Given the description of an element on the screen output the (x, y) to click on. 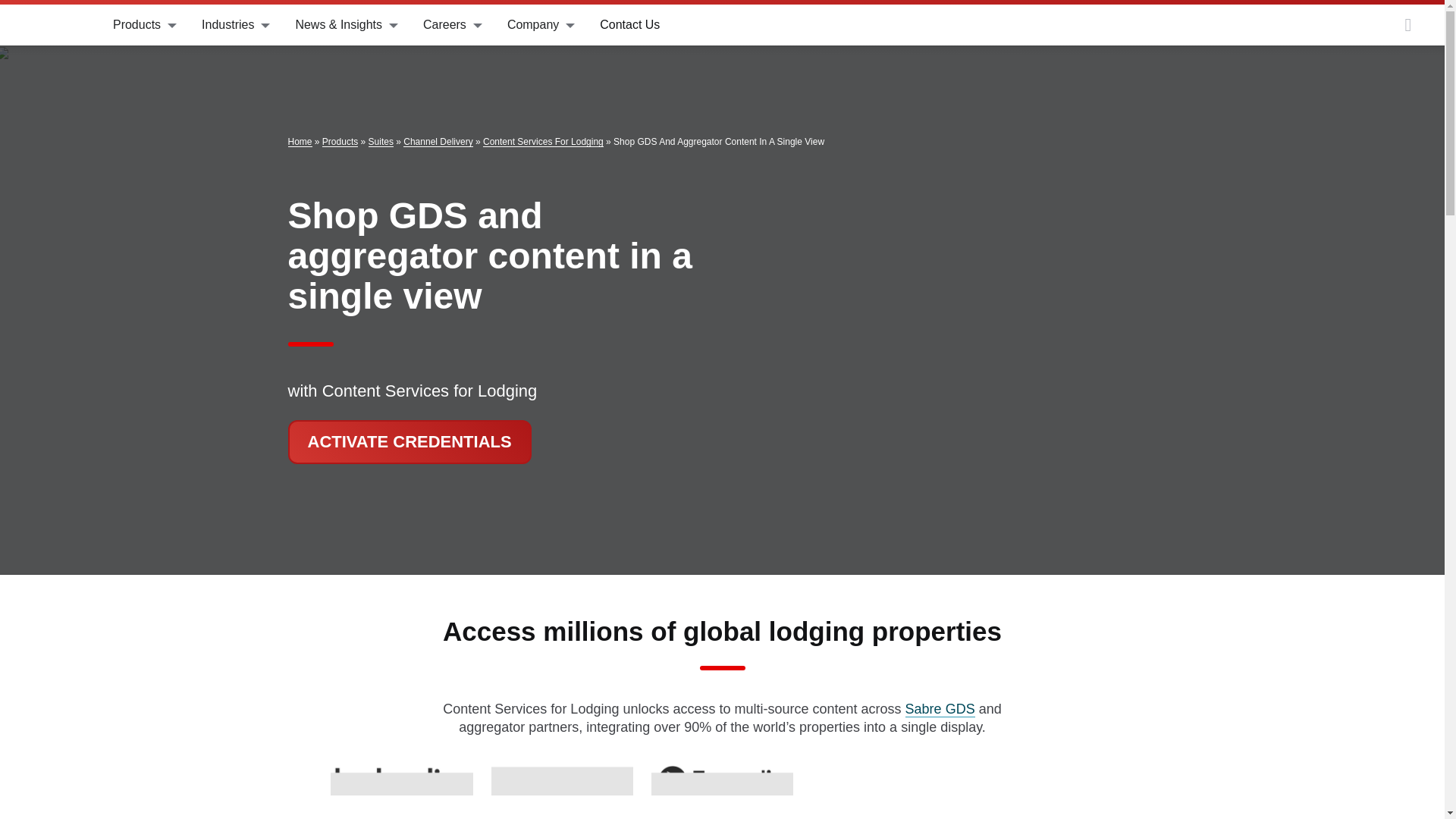
Expand (572, 24)
Sabre (56, 23)
Site Search (1408, 24)
Expand (395, 24)
Expand (479, 24)
Expand (267, 24)
Expand (173, 24)
